Given the description of an element on the screen output the (x, y) to click on. 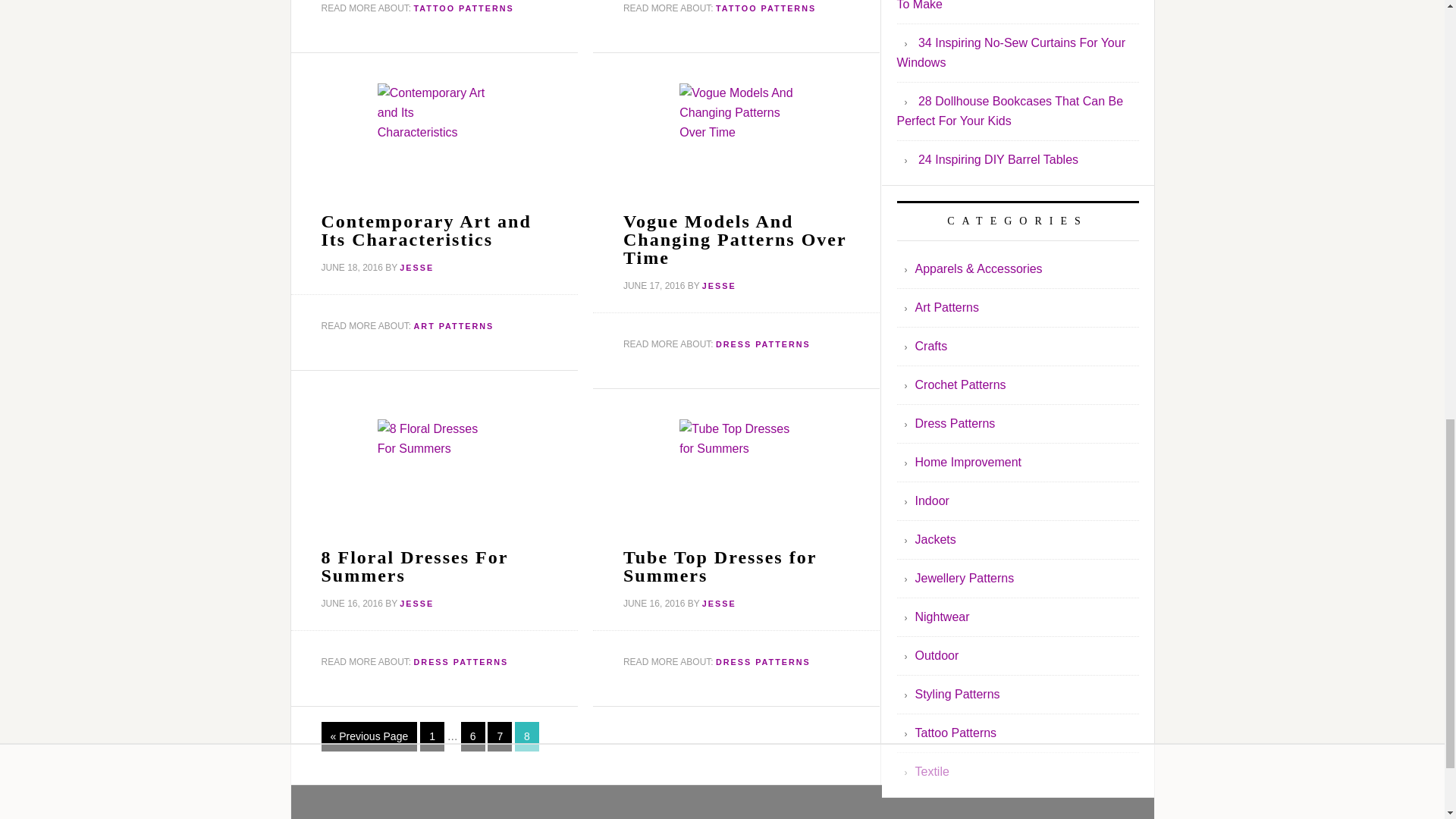
JESSE (718, 603)
DRESS PATTERNS (763, 343)
TATTOO PATTERNS (463, 8)
JESSE (415, 603)
1 (432, 736)
DRESS PATTERNS (763, 661)
8 Floral Dresses For Summers (414, 566)
DRESS PATTERNS (460, 661)
Tube Top Dresses for Summers (719, 566)
Vogue Models And Changing Patterns Over Time (734, 239)
JESSE (718, 285)
JESSE (415, 266)
ART PATTERNS (454, 325)
Contemporary Art and Its Characteristics (426, 230)
TATTOO PATTERNS (765, 8)
